Given the description of an element on the screen output the (x, y) to click on. 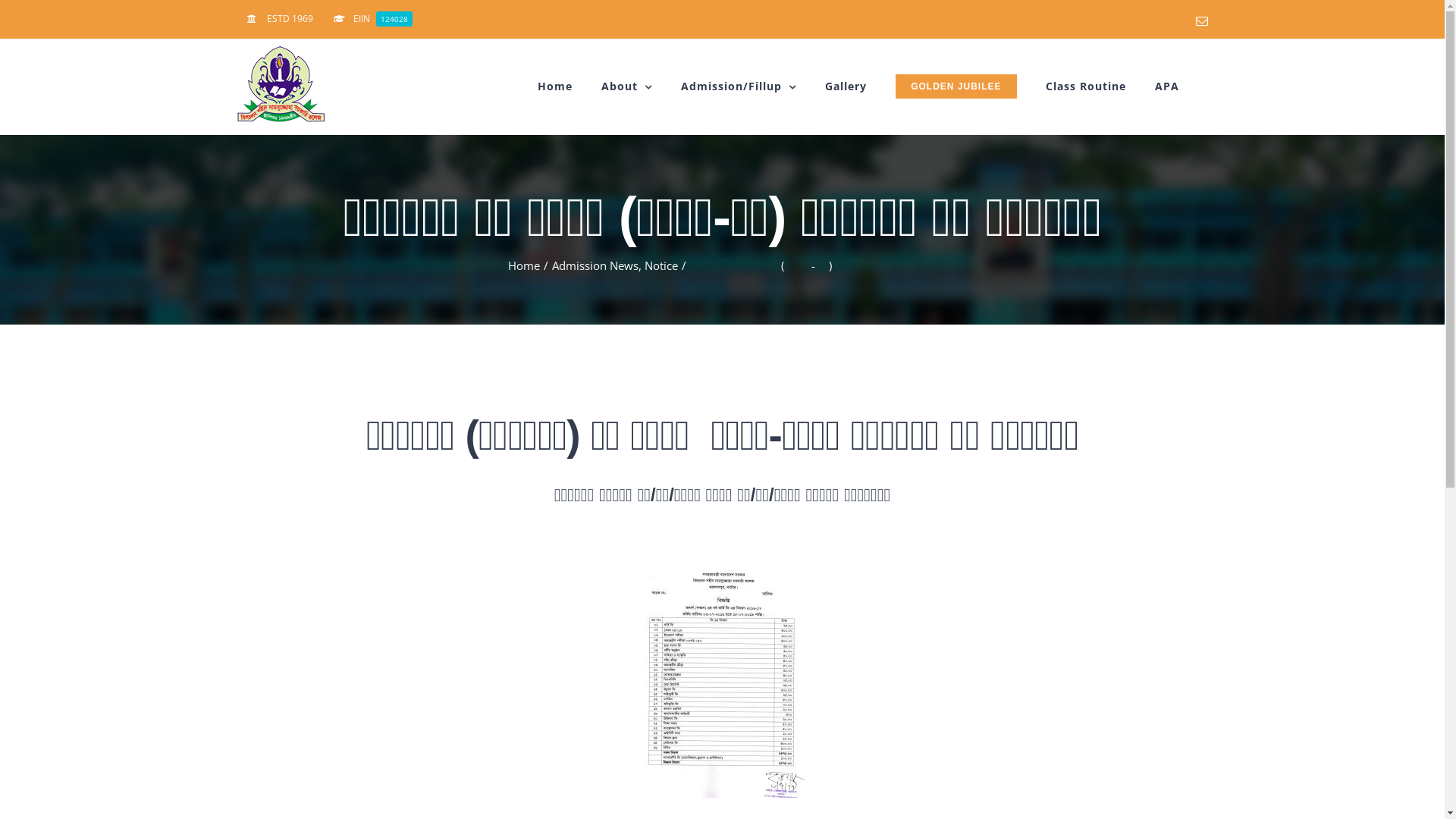
Home Element type: text (523, 265)
Admission/Fillup Element type: text (738, 86)
EIIN
124028 Element type: text (372, 18)
Email Element type: text (1201, 21)
GOLDEN JUBILEE Element type: text (955, 86)
Admission News Element type: text (595, 265)
About Element type: text (626, 86)
ESTD 1969 Element type: text (279, 18)
Gallery Element type: text (845, 86)
APA Element type: text (1166, 86)
Class Routine Element type: text (1084, 86)
Notice Element type: text (660, 265)
Home Element type: text (554, 86)
